Given the description of an element on the screen output the (x, y) to click on. 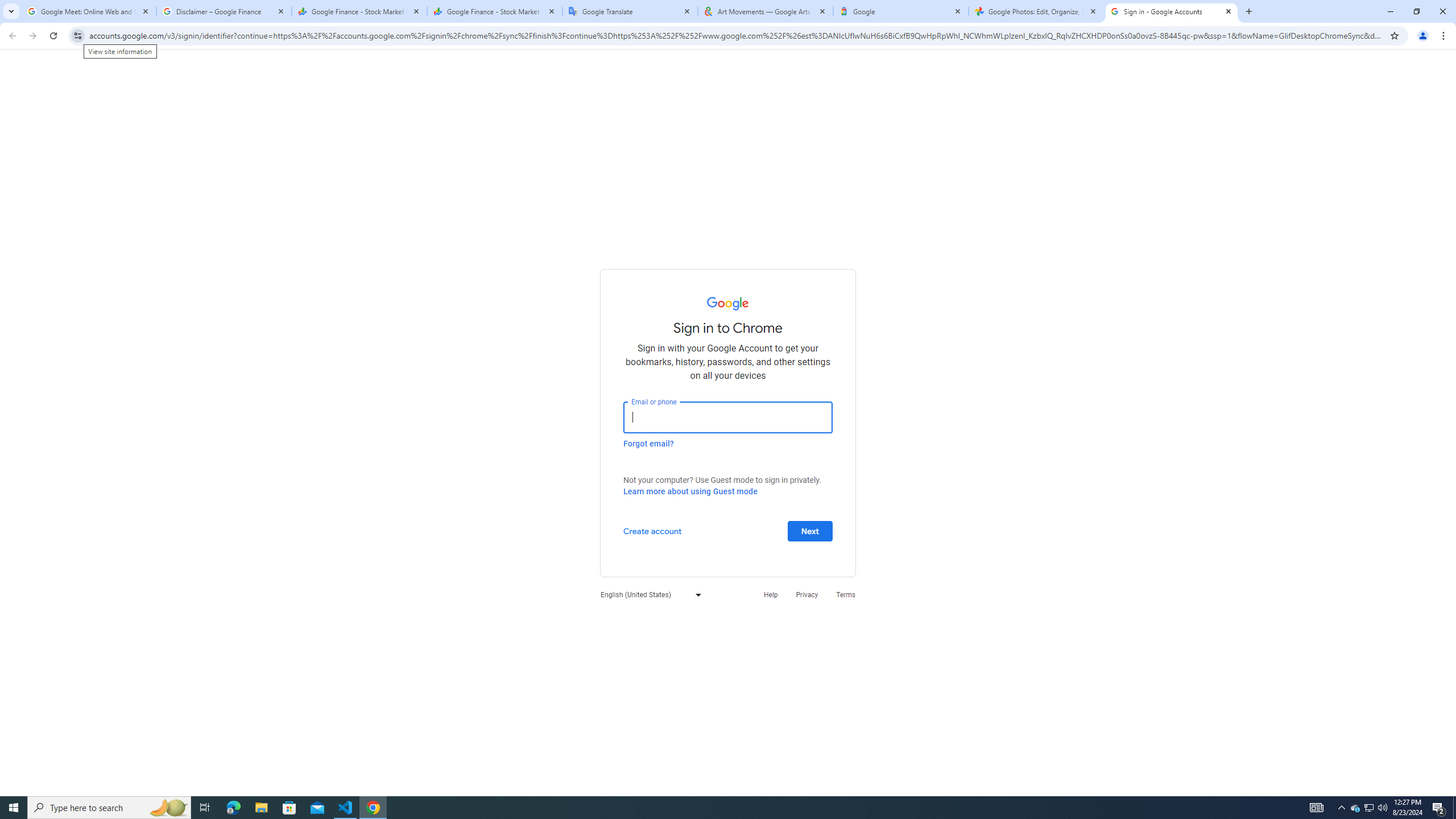
English (United States) (647, 594)
Forgot email? (648, 443)
